Given the description of an element on the screen output the (x, y) to click on. 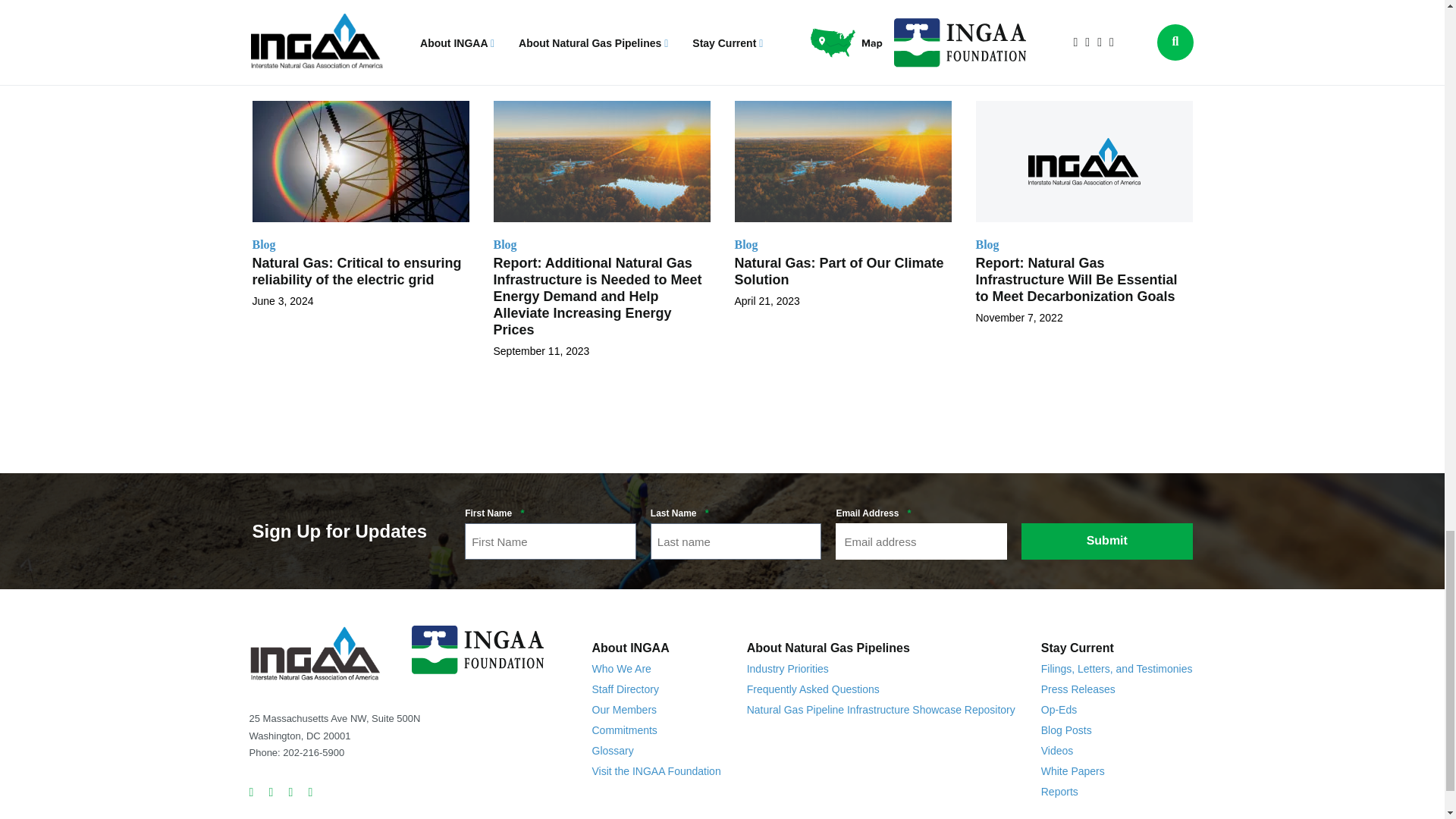
LinkedIn (293, 792)
Submit (1107, 541)
YouTube (313, 792)
Facebook (274, 792)
Twitter (254, 792)
